Given the description of an element on the screen output the (x, y) to click on. 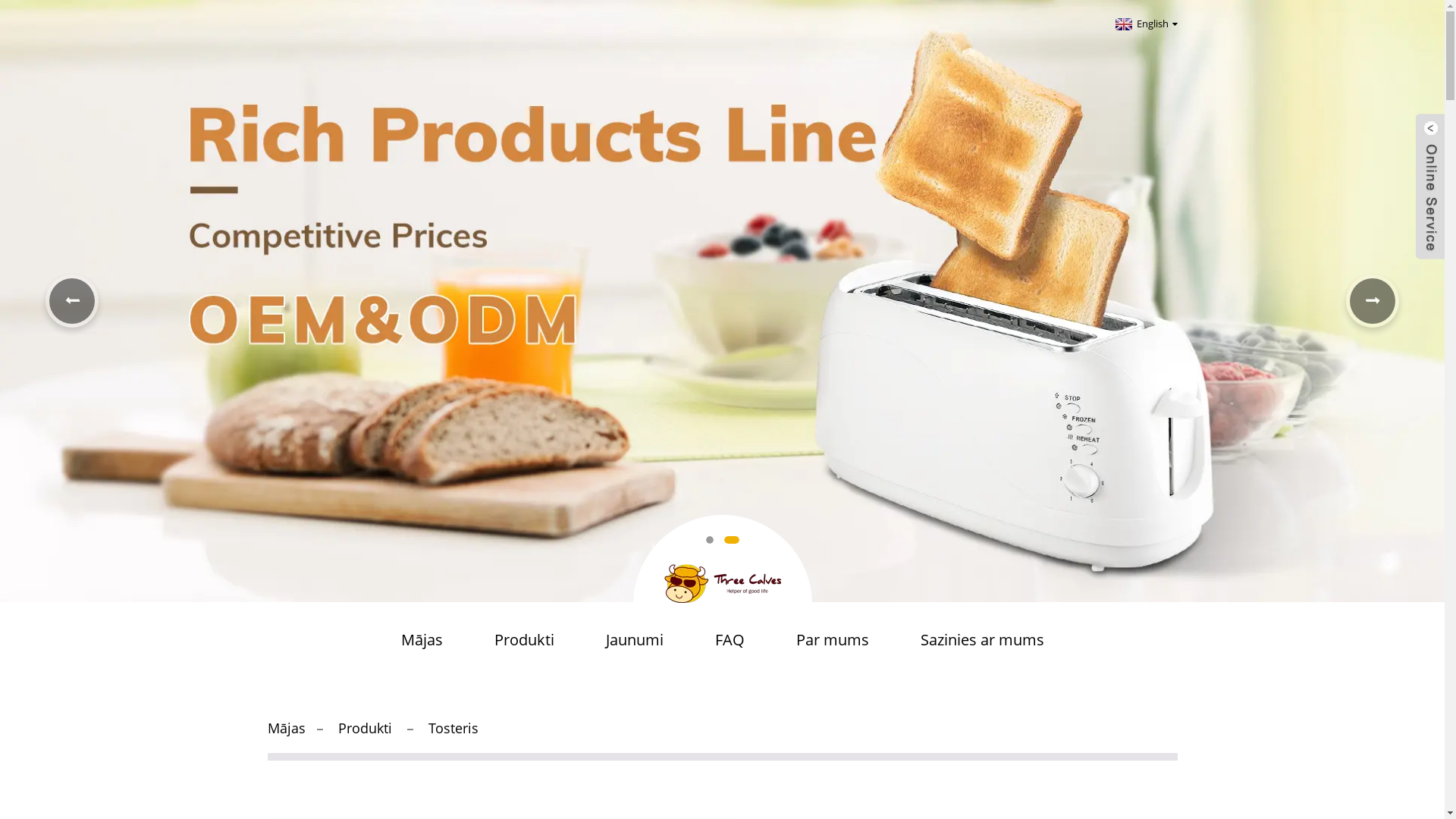
FAQ Element type: text (728, 639)
English Element type: text (1144, 23)
Produkti Element type: text (524, 639)
Sazinies ar mums Element type: text (982, 639)
Tosteris Element type: text (452, 727)
Produkti Element type: text (365, 727)
Jaunumi Element type: text (633, 639)
Par mums Element type: text (832, 639)
